Given the description of an element on the screen output the (x, y) to click on. 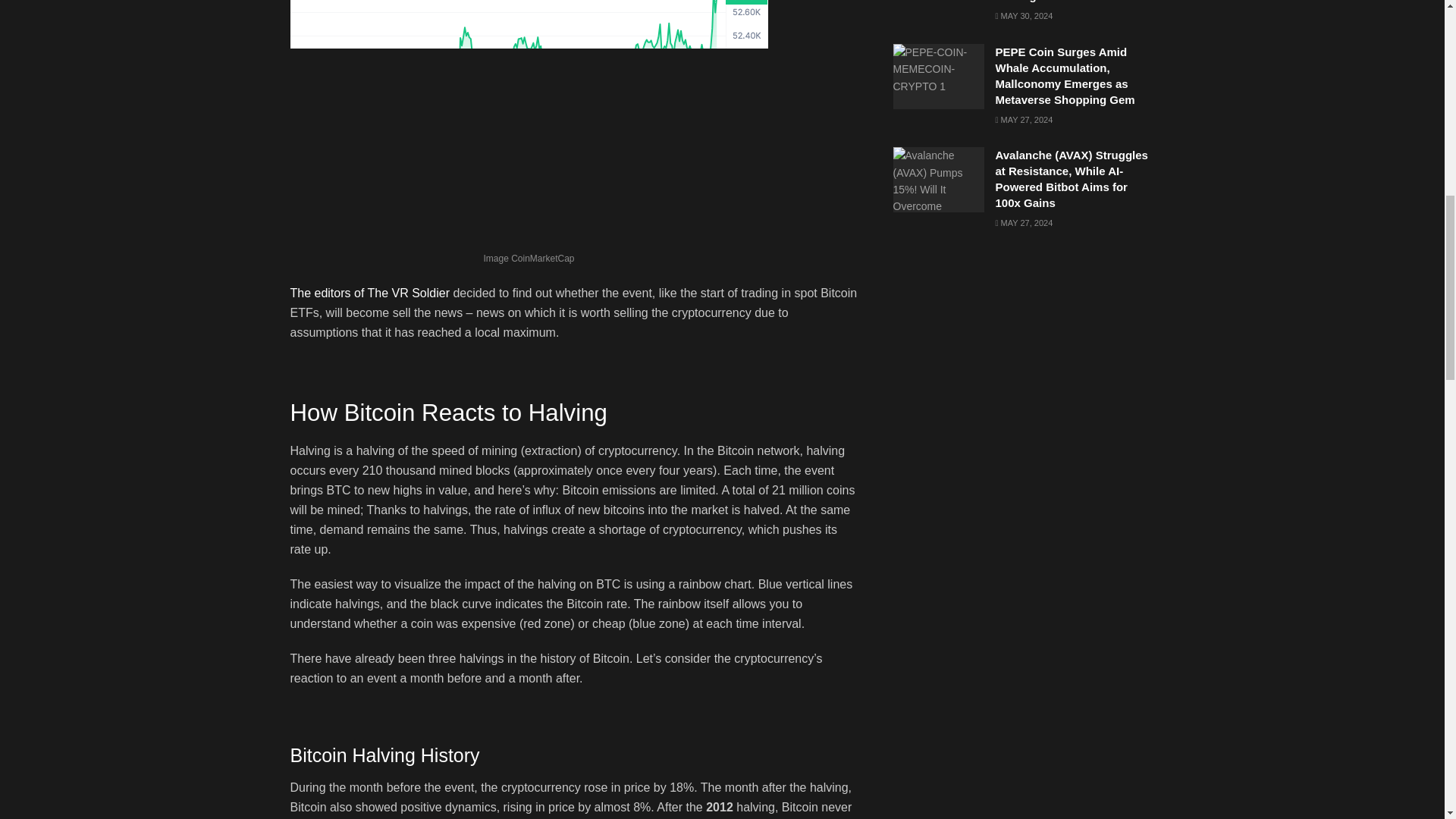
BTC-BITCOIN-HALVING  The VR Soldier (528, 123)
PEPE-COIN-MEMECOIN-CRYPTO 1  The VR Soldier (938, 76)
